Given the description of an element on the screen output the (x, y) to click on. 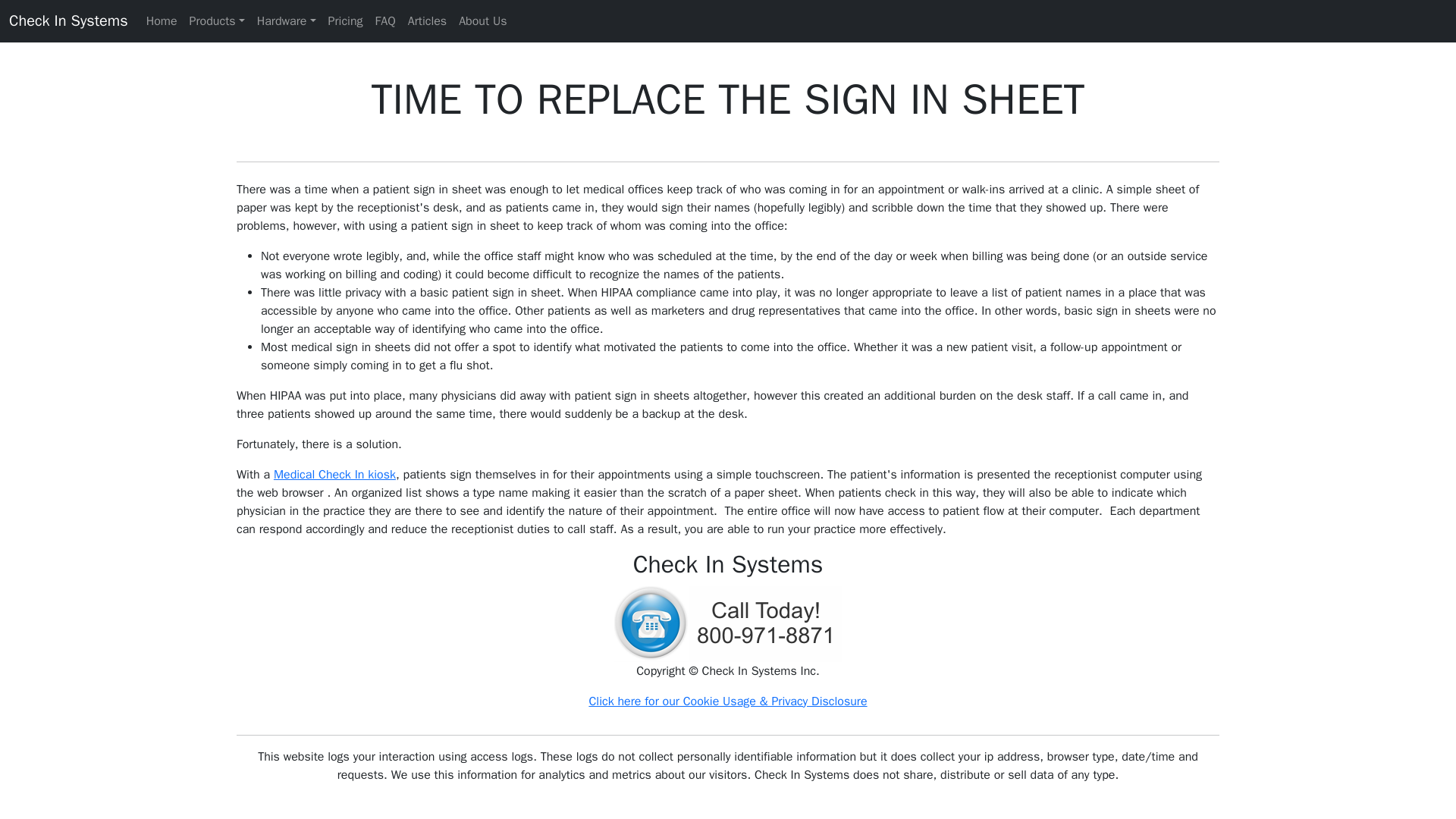
Articles (426, 20)
Hardware (285, 20)
Home (161, 20)
About Us (482, 20)
Pricing (345, 20)
Check In Systems (68, 20)
Products (216, 20)
FAQ (385, 20)
Medical Check In kiosk (334, 474)
